Given the description of an element on the screen output the (x, y) to click on. 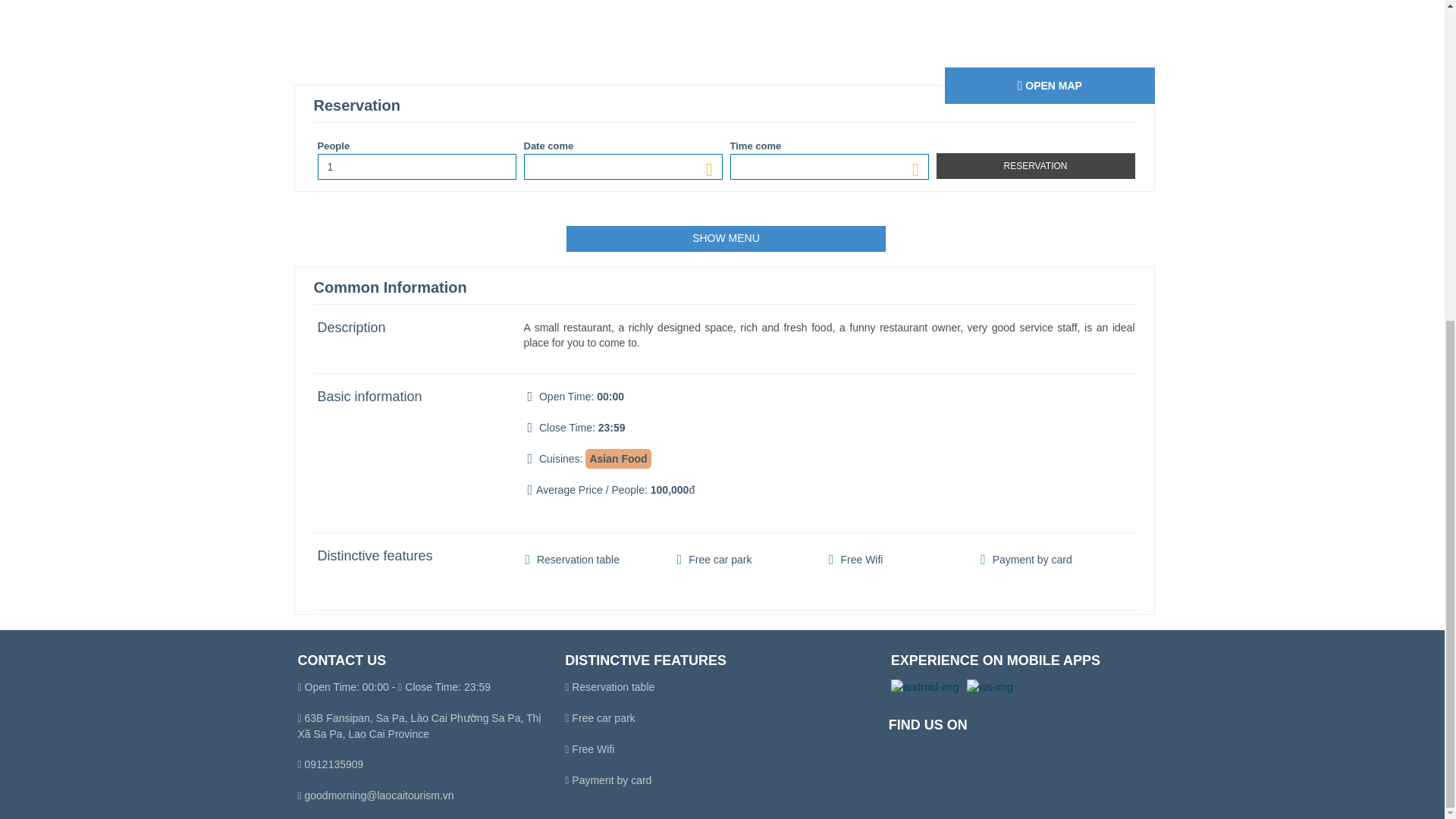
Reservation (1035, 166)
1 (416, 166)
SHOW MENU (725, 238)
Reservation (1035, 166)
OPEN MAP (1049, 85)
